Given the description of an element on the screen output the (x, y) to click on. 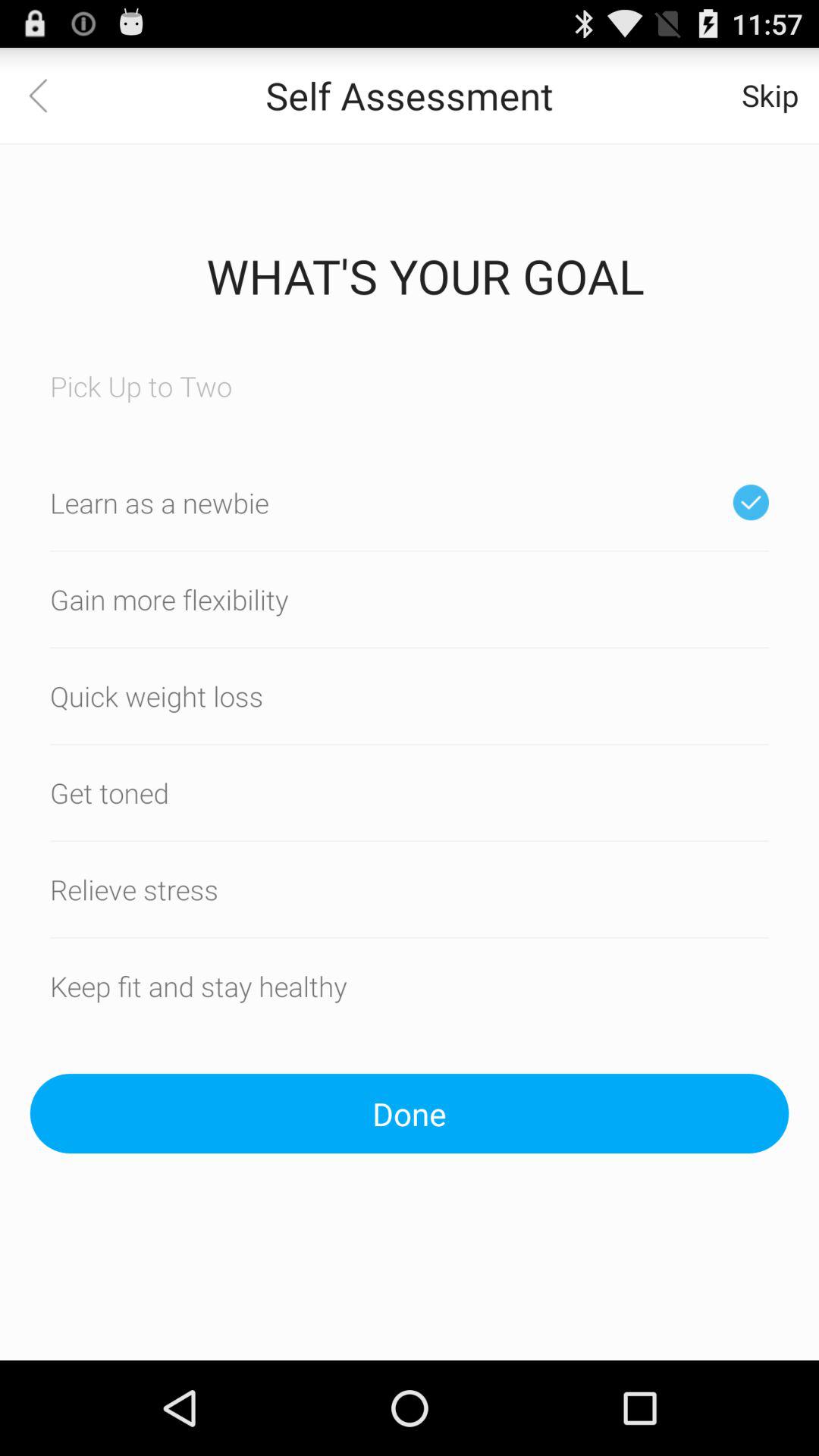
click done at the bottom (409, 1113)
